Given the description of an element on the screen output the (x, y) to click on. 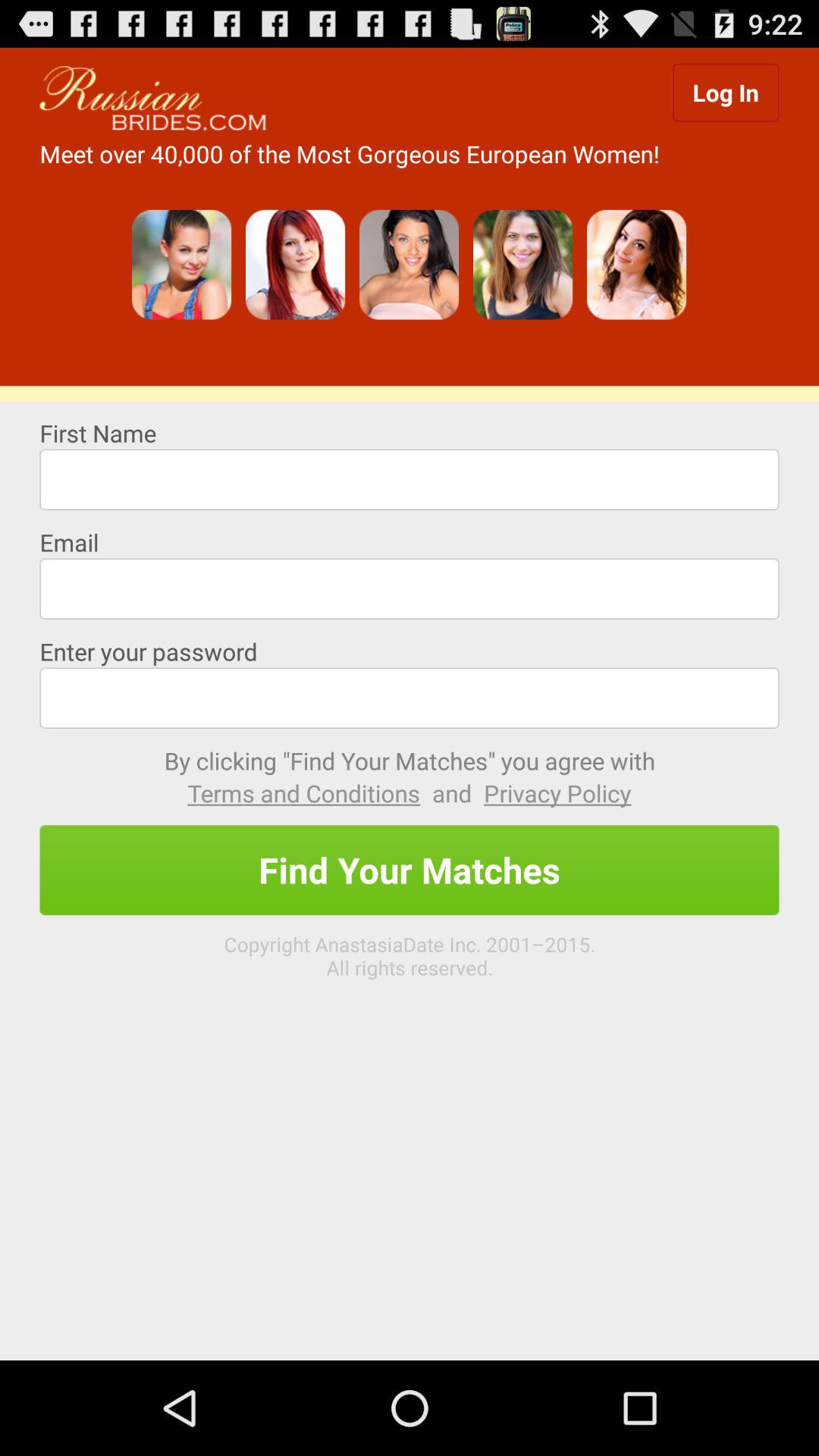
enter email address (409, 588)
